Given the description of an element on the screen output the (x, y) to click on. 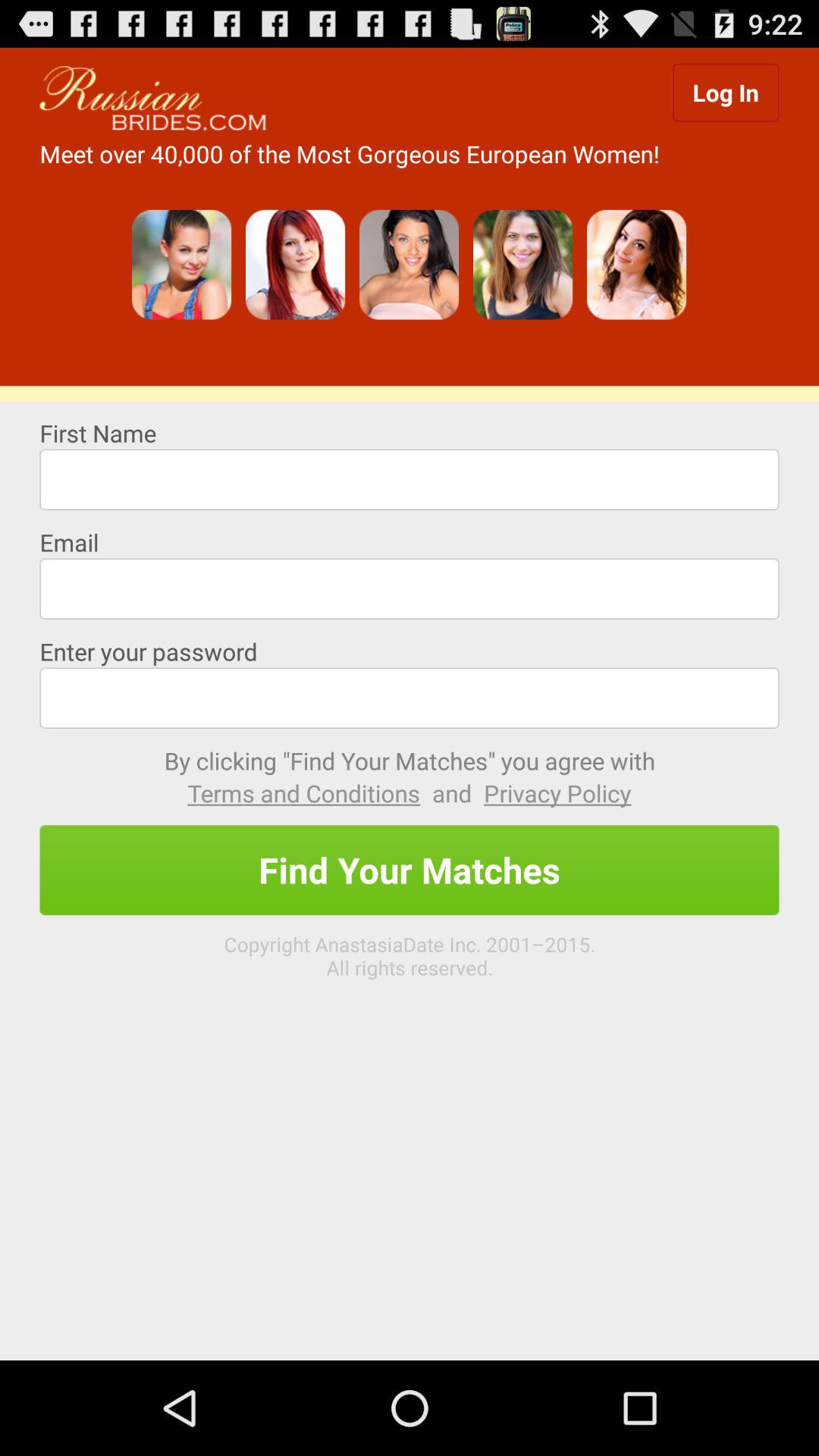
enter email address (409, 588)
